Given the description of an element on the screen output the (x, y) to click on. 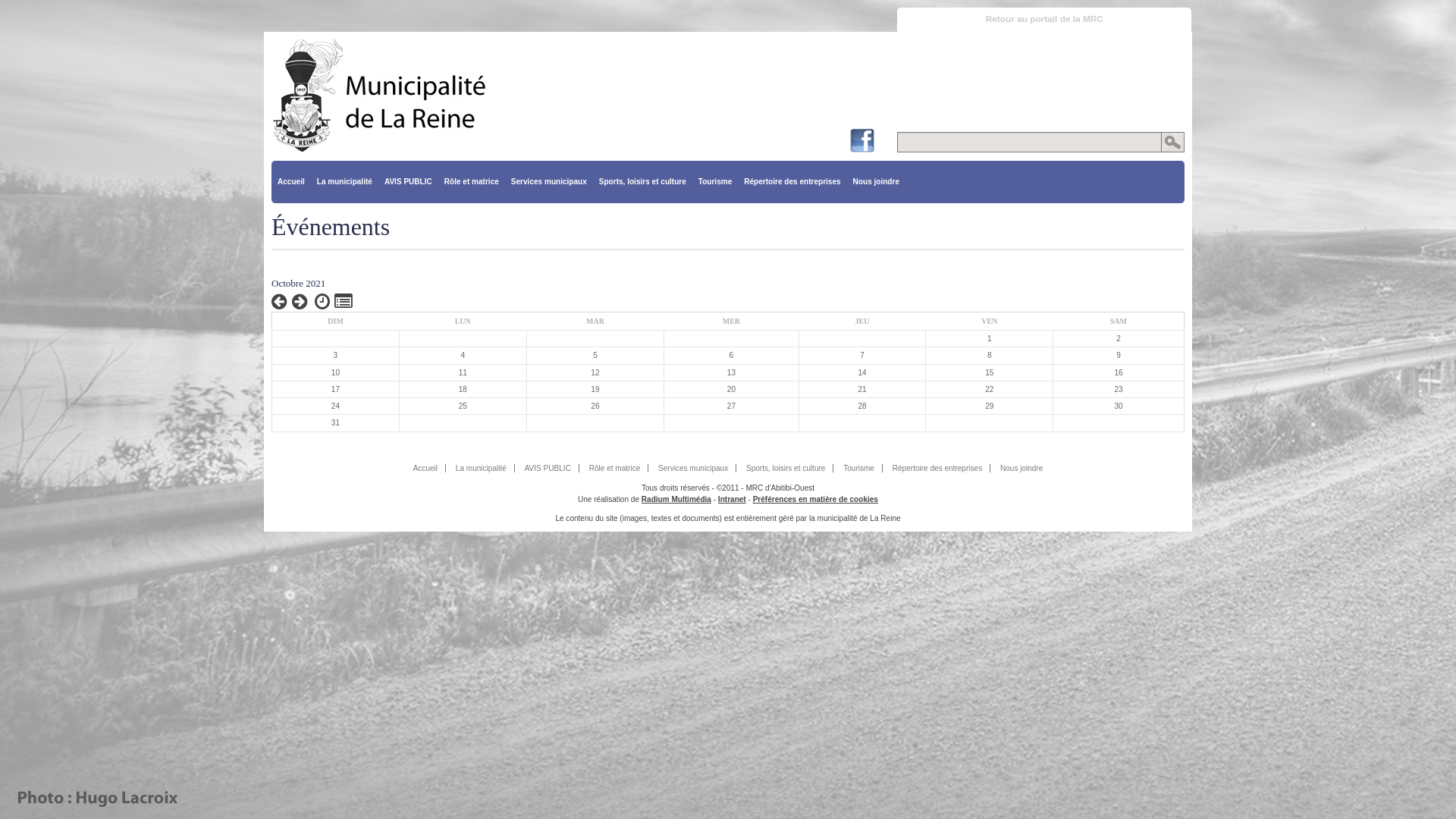
Tourisme Element type: text (714, 181)
Intranet Element type: text (732, 499)
Sports, loisirs et culture Element type: text (642, 181)
Accueil Element type: text (425, 468)
Sports, loisirs et culture Element type: text (785, 468)
Accueil Element type: text (290, 181)
Mois actuel Element type: hover (321, 301)
Services municipaux Element type: text (549, 181)
Tourisme Element type: text (858, 468)
Nous joindre Element type: text (876, 181)
Services municipaux Element type: text (693, 468)
AVIS PUBLIC Element type: text (548, 468)
Mois suivant Element type: hover (299, 301)
AVIS PUBLIC Element type: text (408, 181)
Nous joindre Element type: text (1021, 468)
Retour au portail de la MRC Element type: text (1044, 19)
